Given the description of an element on the screen output the (x, y) to click on. 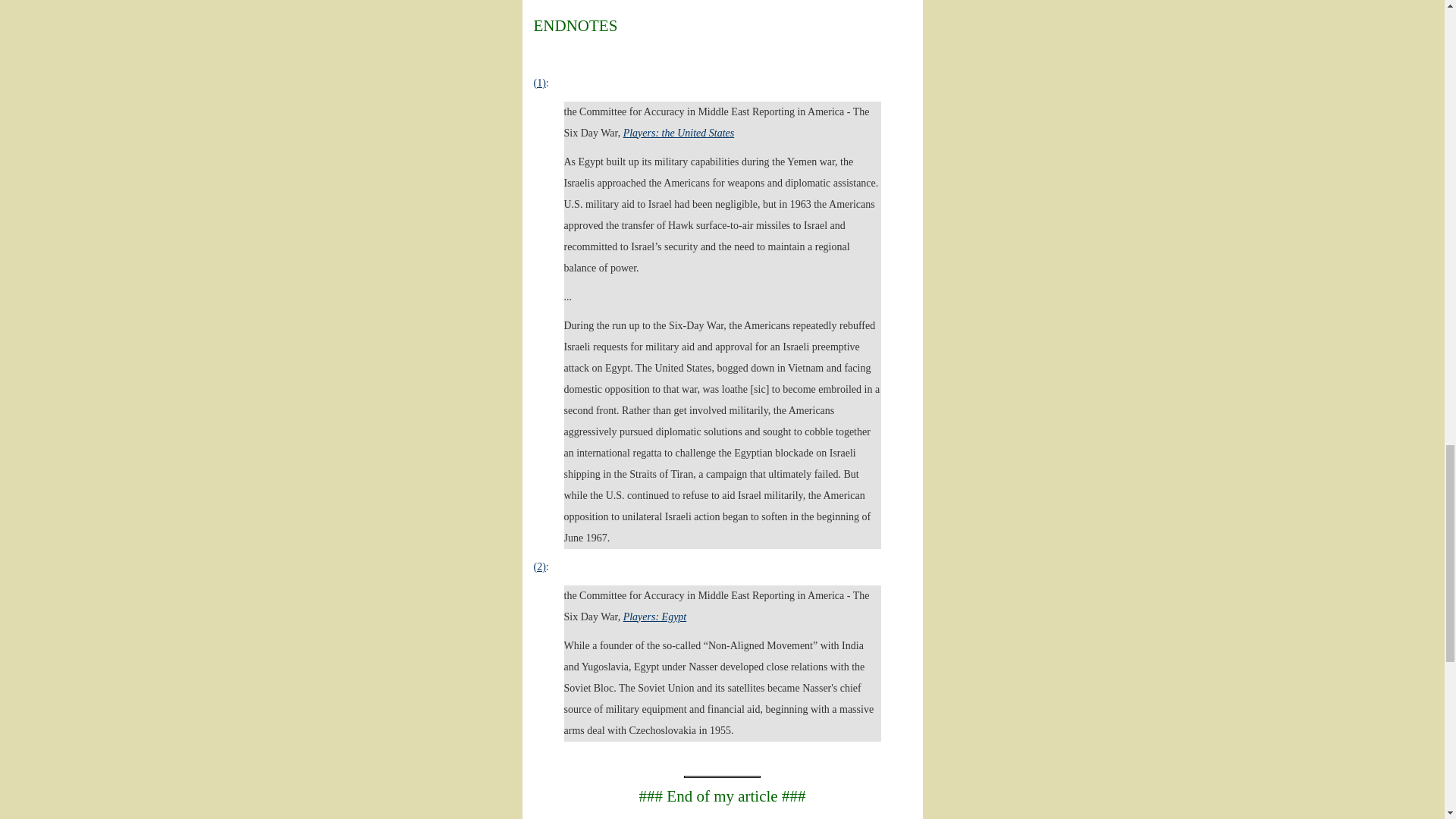
Players: the United States (679, 132)
Players: Egypt (655, 616)
